Given the description of an element on the screen output the (x, y) to click on. 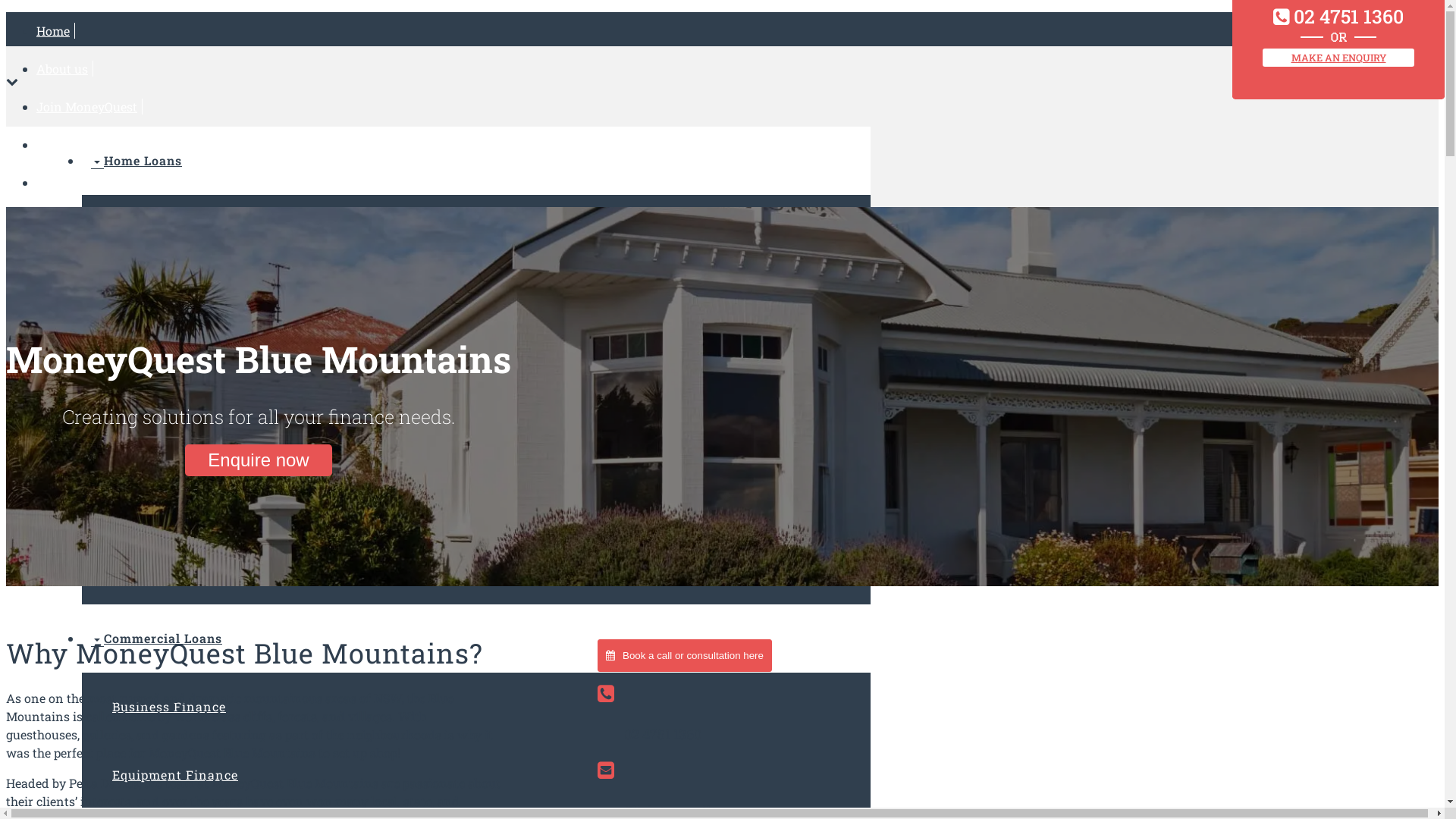
Home Element type: text (55, 30)
Debt Consolidation Element type: text (173, 501)
02 4751 1360 Element type: text (662, 733)
Credit Impaired Element type: text (162, 433)
Equipment Finance Element type: text (175, 774)
MAKE AN ENQUIRY Element type: text (1338, 57)
About us Element type: text (64, 68)
Home Loans Element type: text (136, 160)
Tips & Inspiration Element type: text (90, 182)
Enquire now Element type: text (258, 460)
Join MoneyQuest Element type: text (89, 106)
Calculators Element type: text (71, 144)
Investment Loans Element type: text (169, 365)
First Home Buyer Element type: text (168, 228)
Glossary Element type: text (63, 220)
Business Finance Element type: text (168, 706)
Self-Employed Element type: text (158, 569)
Commercial Loans Element type: text (156, 638)
Book a call or consultation here Element type: text (684, 655)
Media Element type: text (56, 258)
Refinancing Element type: text (151, 296)
